Given the description of an element on the screen output the (x, y) to click on. 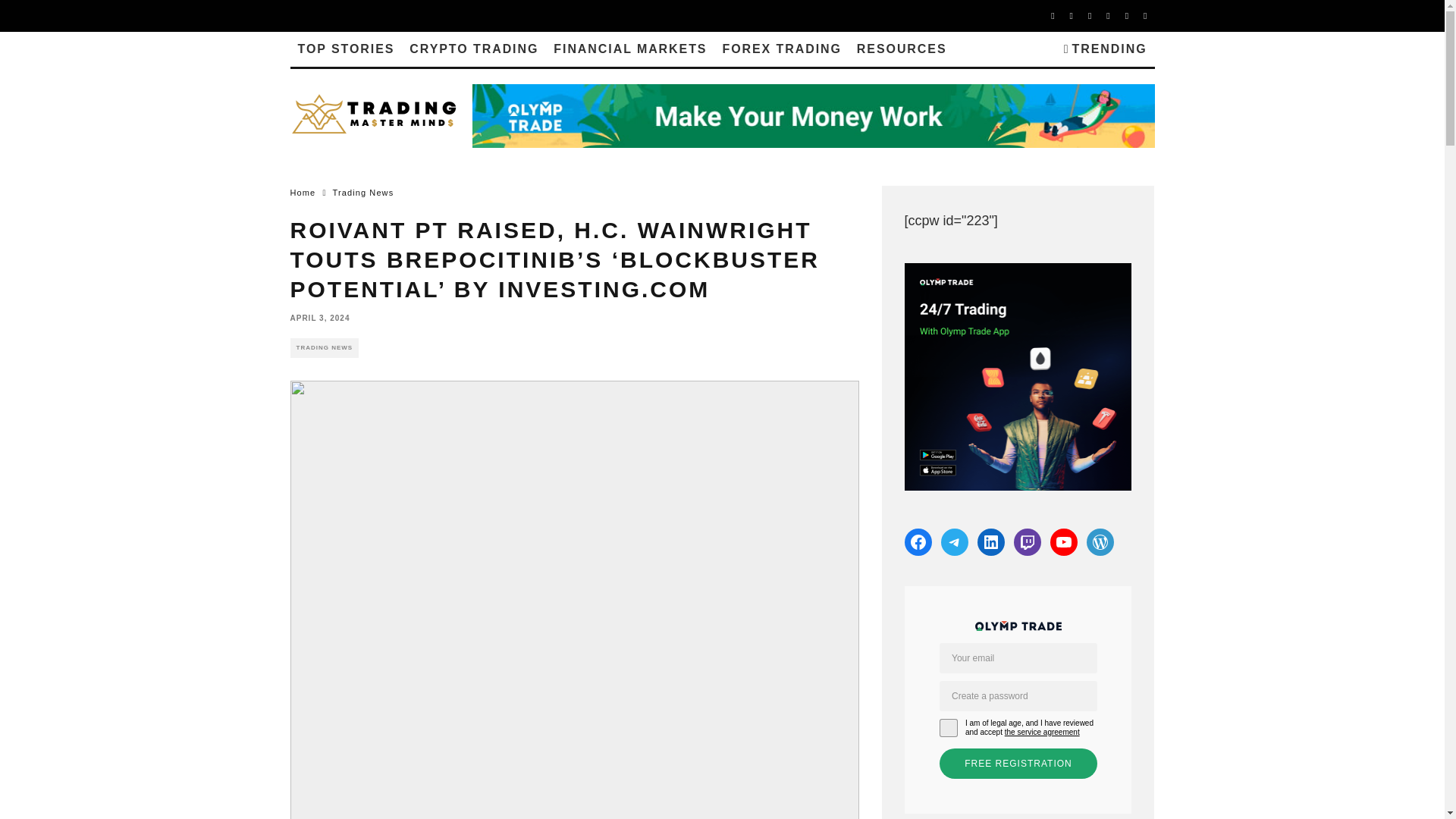
FOREX TRADING (781, 48)
RESOURCES (901, 48)
Home (302, 192)
FINANCIAL MARKETS (630, 48)
TOP STORIES (345, 48)
Trading News (363, 192)
TRENDING (1105, 48)
CRYPTO TRADING (473, 48)
